Given the description of an element on the screen output the (x, y) to click on. 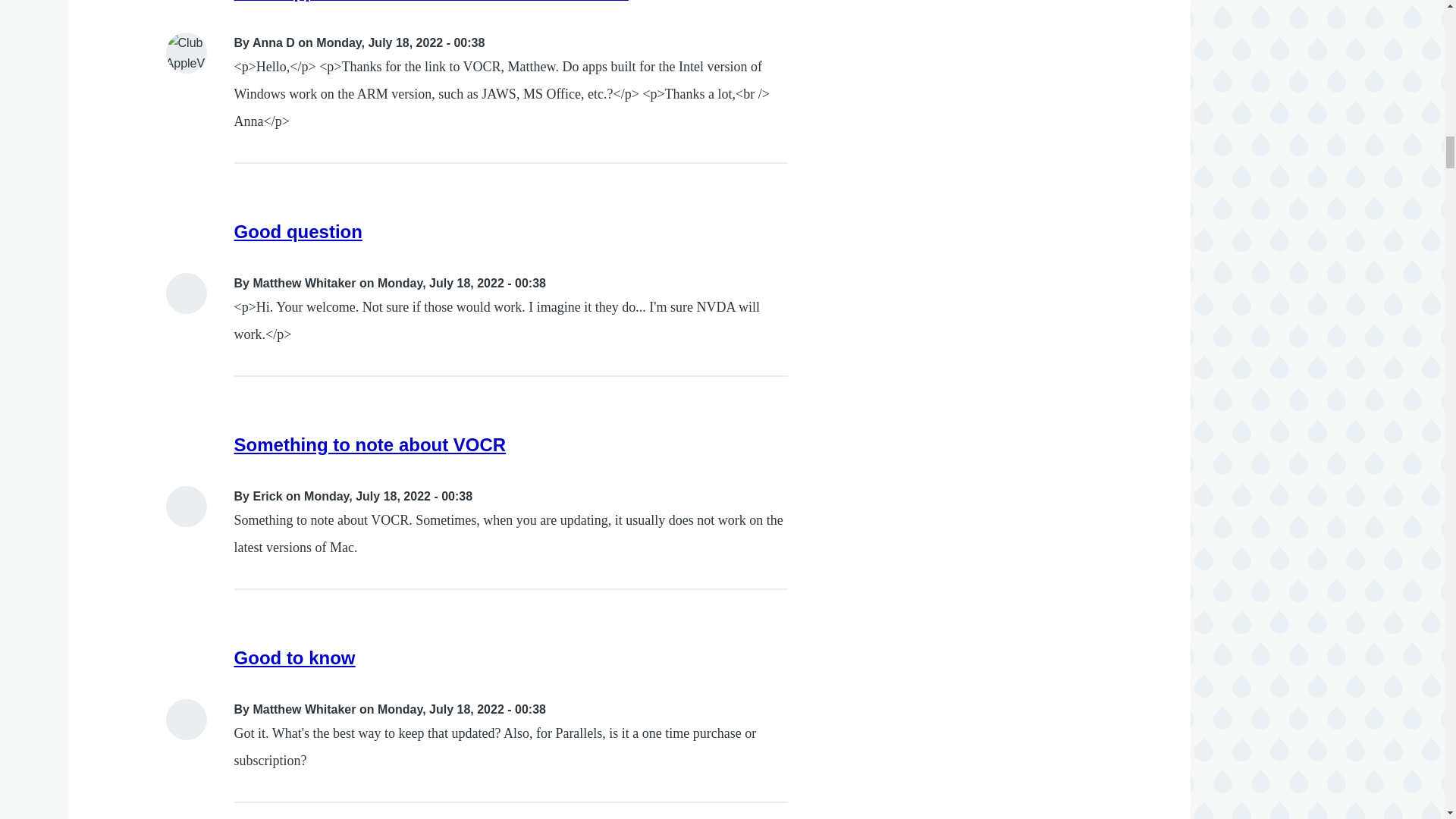
Something to note about VOCR (370, 444)
Good to know (294, 657)
Good question (298, 231)
